Given the description of an element on the screen output the (x, y) to click on. 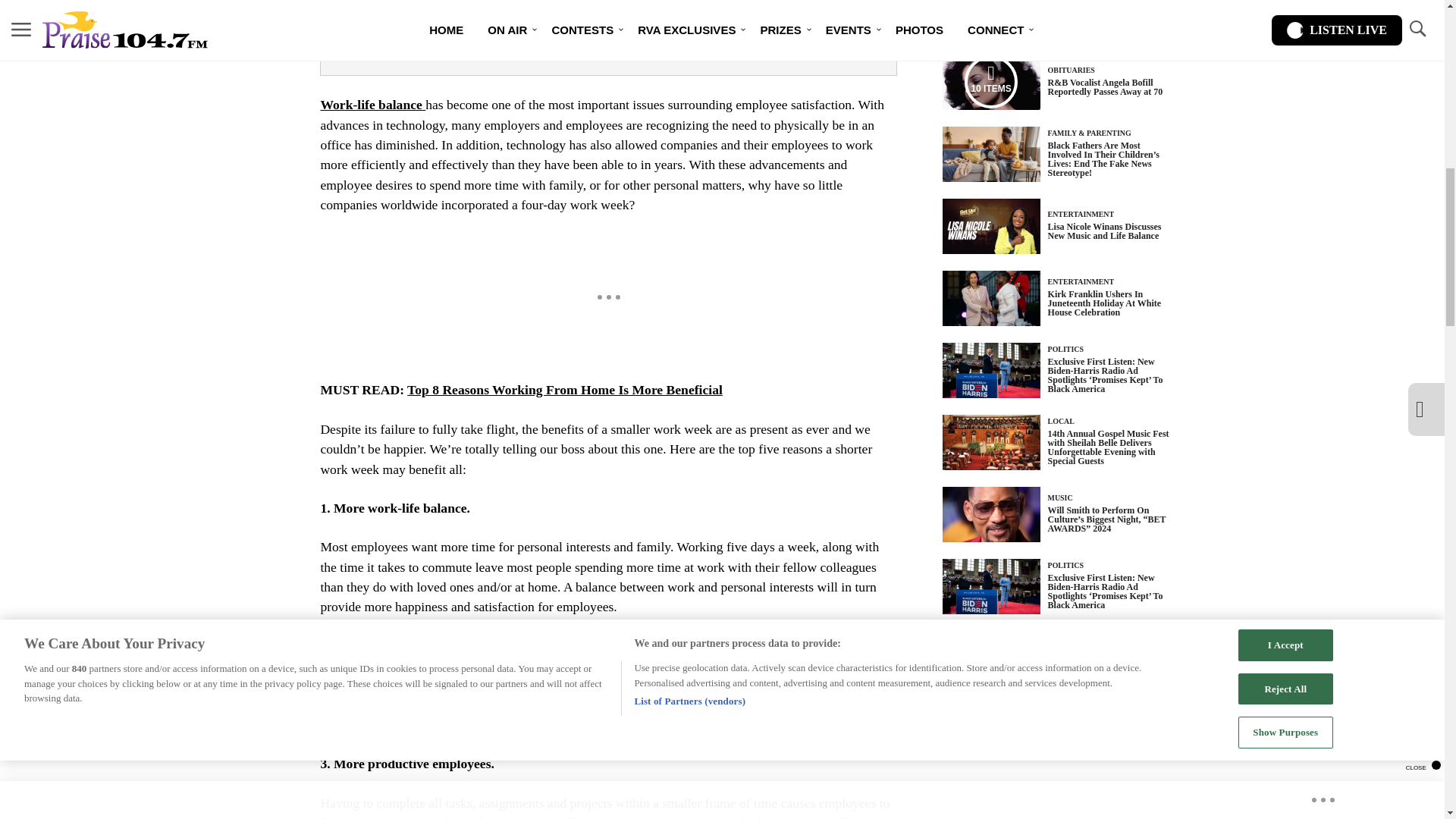
Media Playlist (990, 81)
Top 8 Reasons Working From Home Is More Beneficial (372, 104)
